Given the description of an element on the screen output the (x, y) to click on. 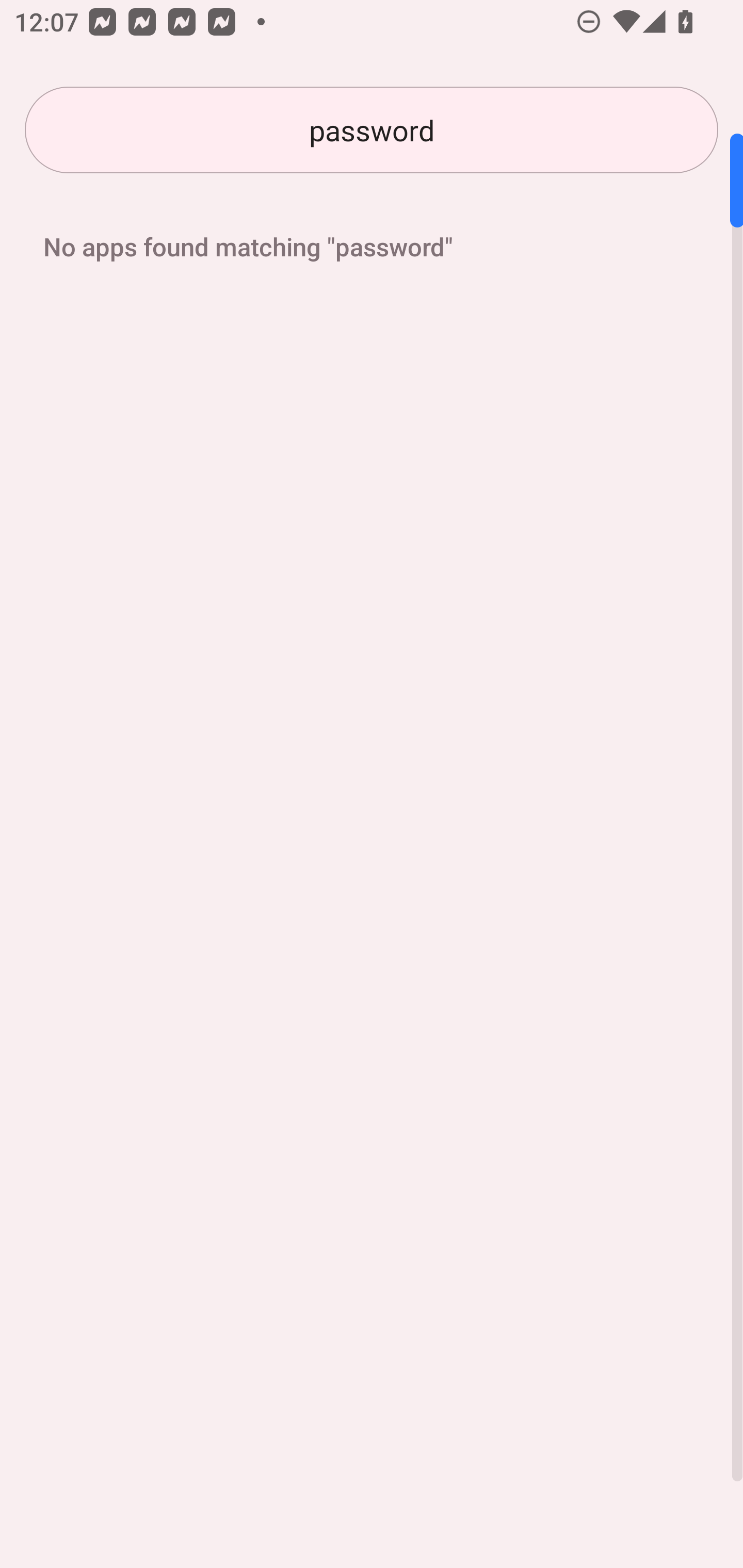
password (371, 130)
